Given the description of an element on the screen output the (x, y) to click on. 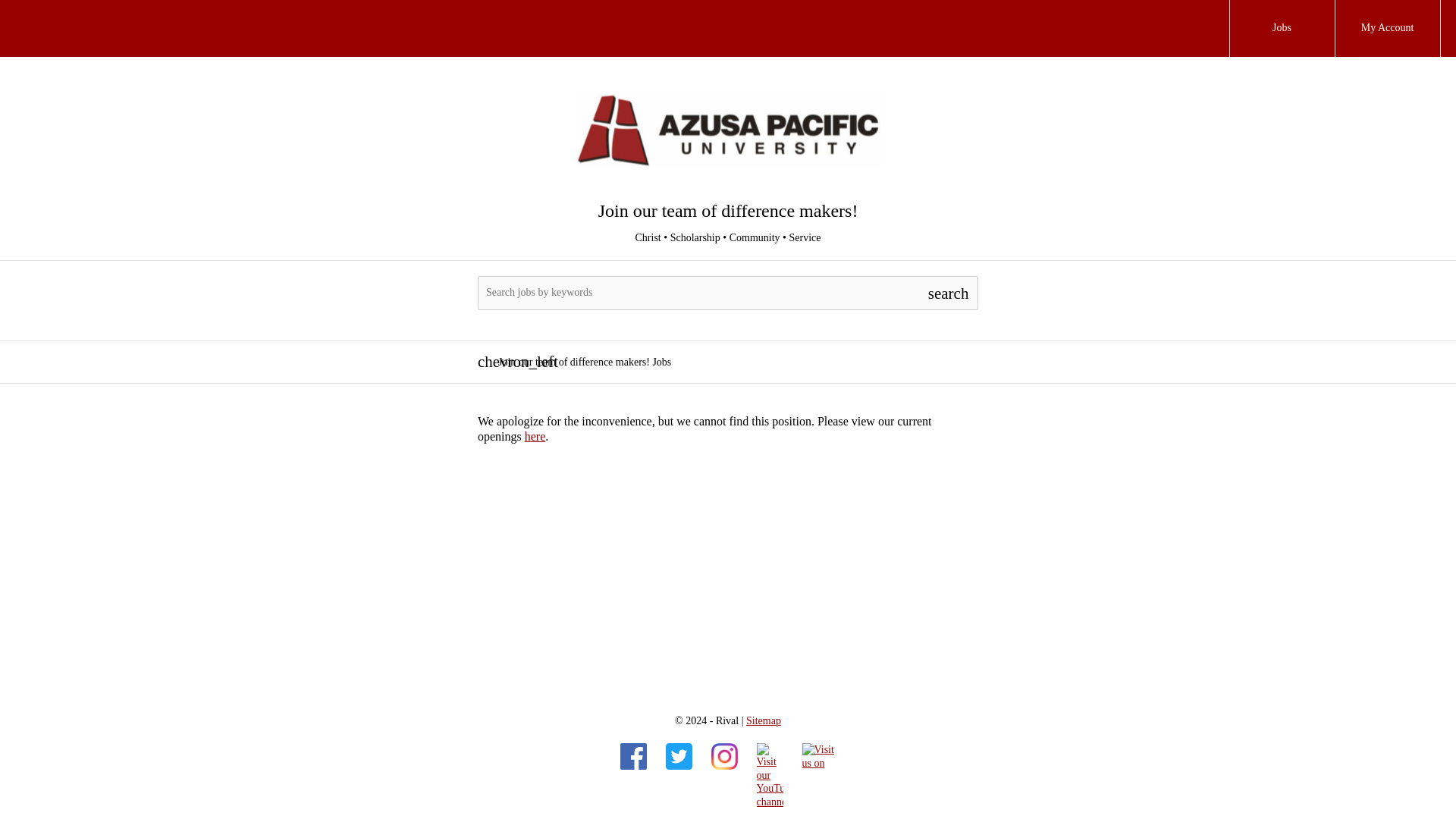
Job's list (535, 436)
here (535, 436)
My Account (1388, 28)
Jobs (1281, 28)
